Given the description of an element on the screen output the (x, y) to click on. 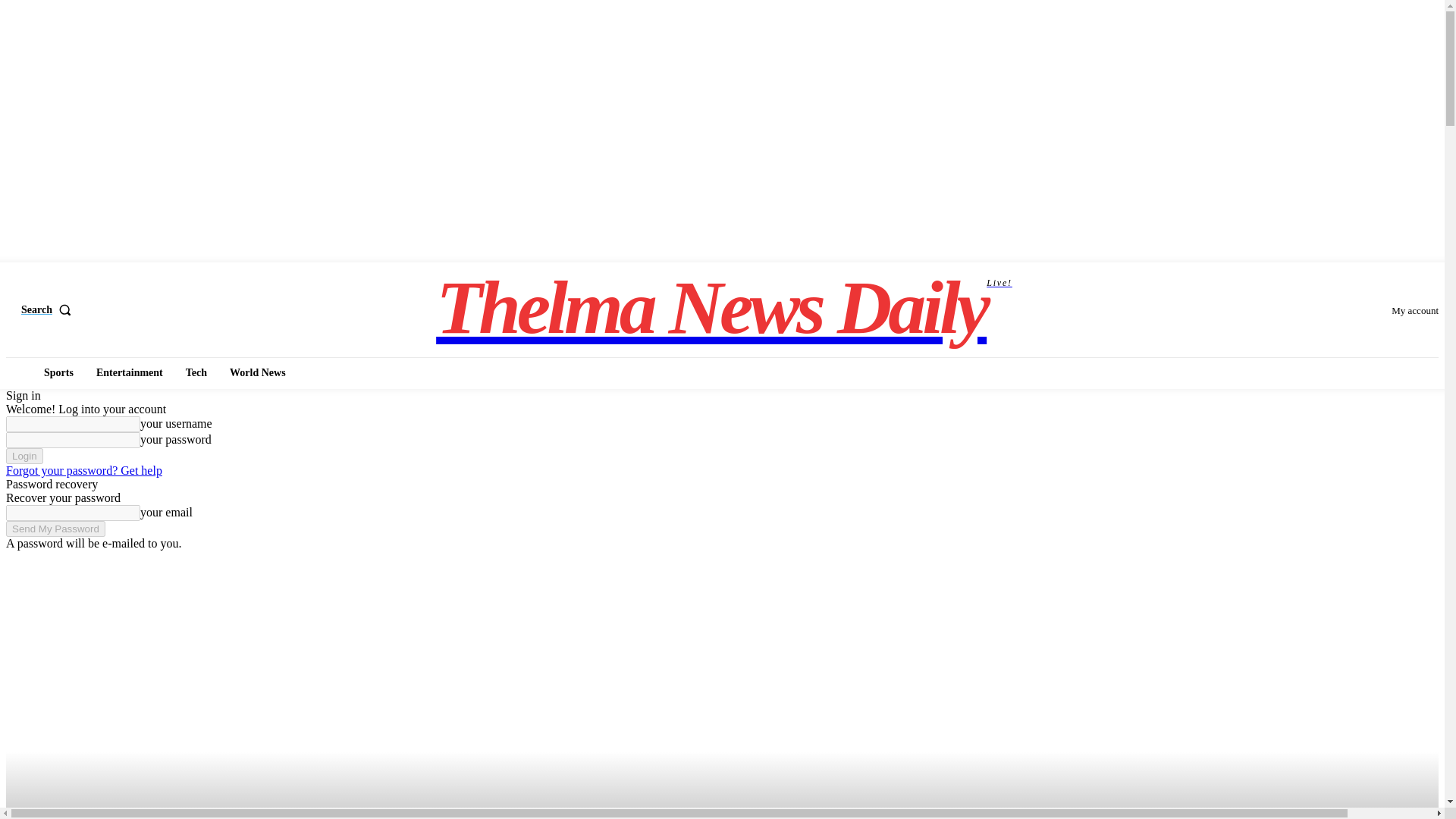
Search (49, 309)
World News (723, 307)
Tech (258, 373)
Sports (195, 373)
Login (58, 373)
Entertainment (24, 455)
Send My Password (129, 373)
Forgot your password? Get help (54, 528)
